Given the description of an element on the screen output the (x, y) to click on. 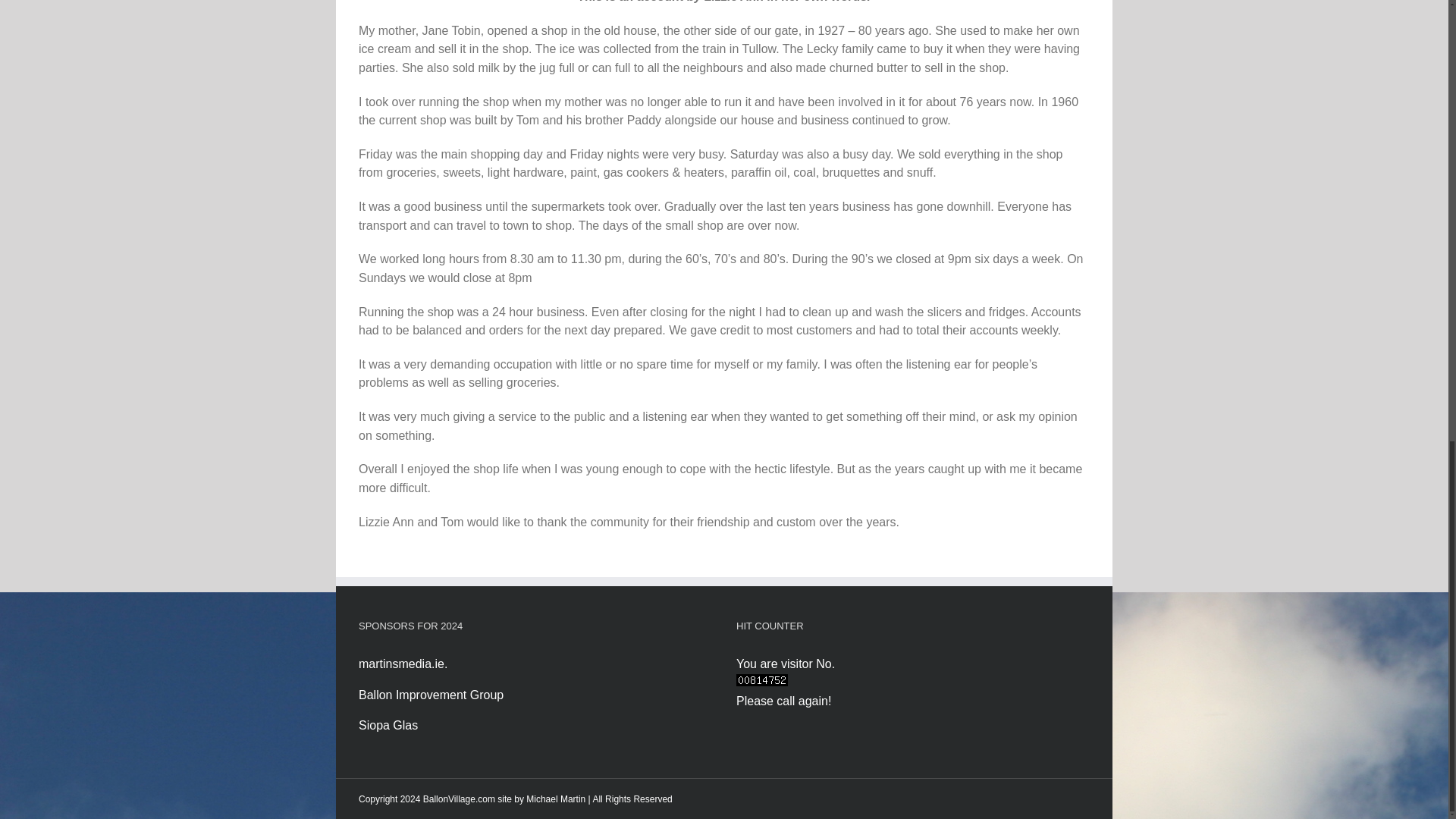
wordpress statistics (761, 682)
